Given the description of an element on the screen output the (x, y) to click on. 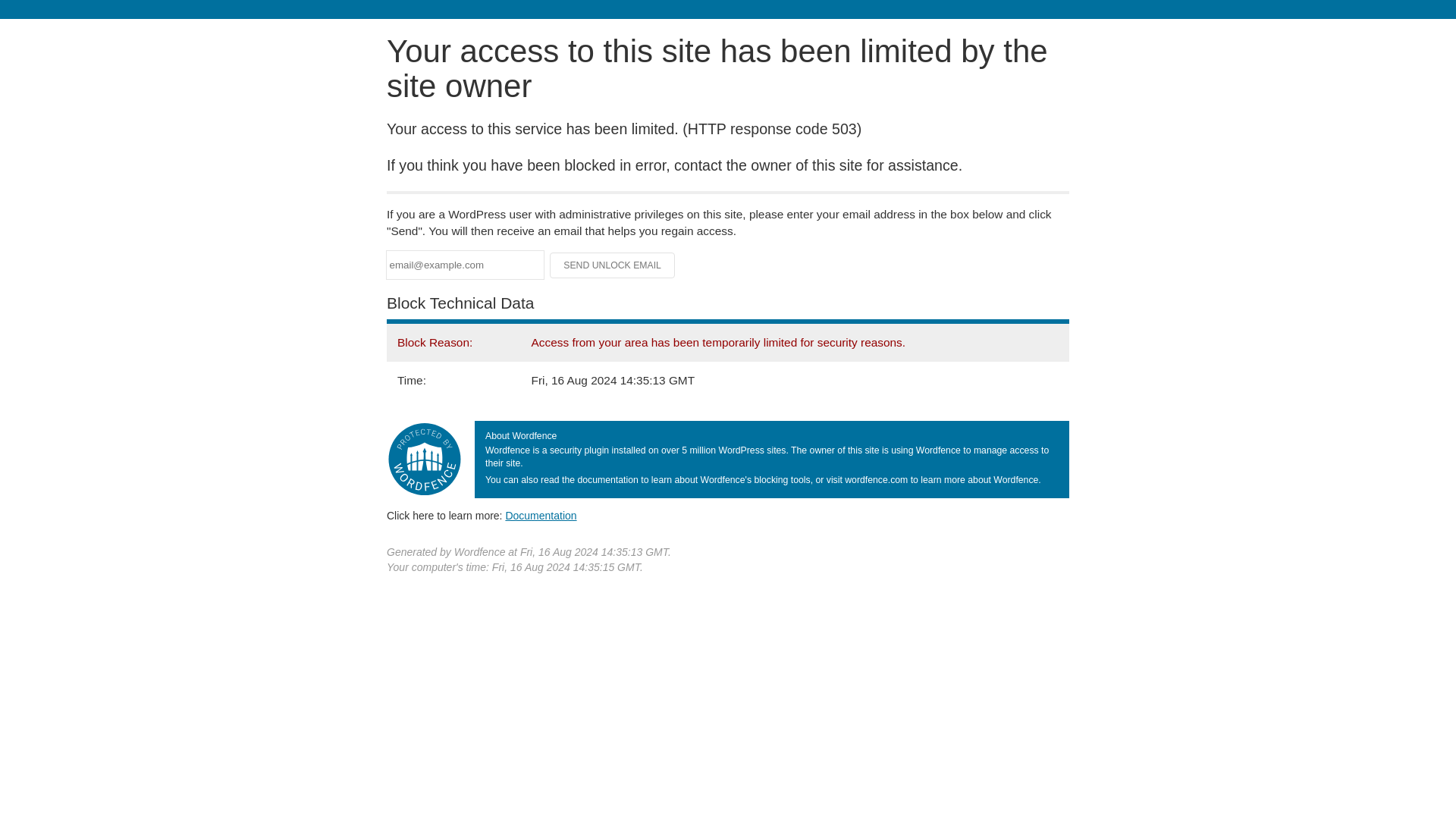
Send Unlock Email (612, 265)
Documentation (540, 515)
Send Unlock Email (612, 265)
